Given the description of an element on the screen output the (x, y) to click on. 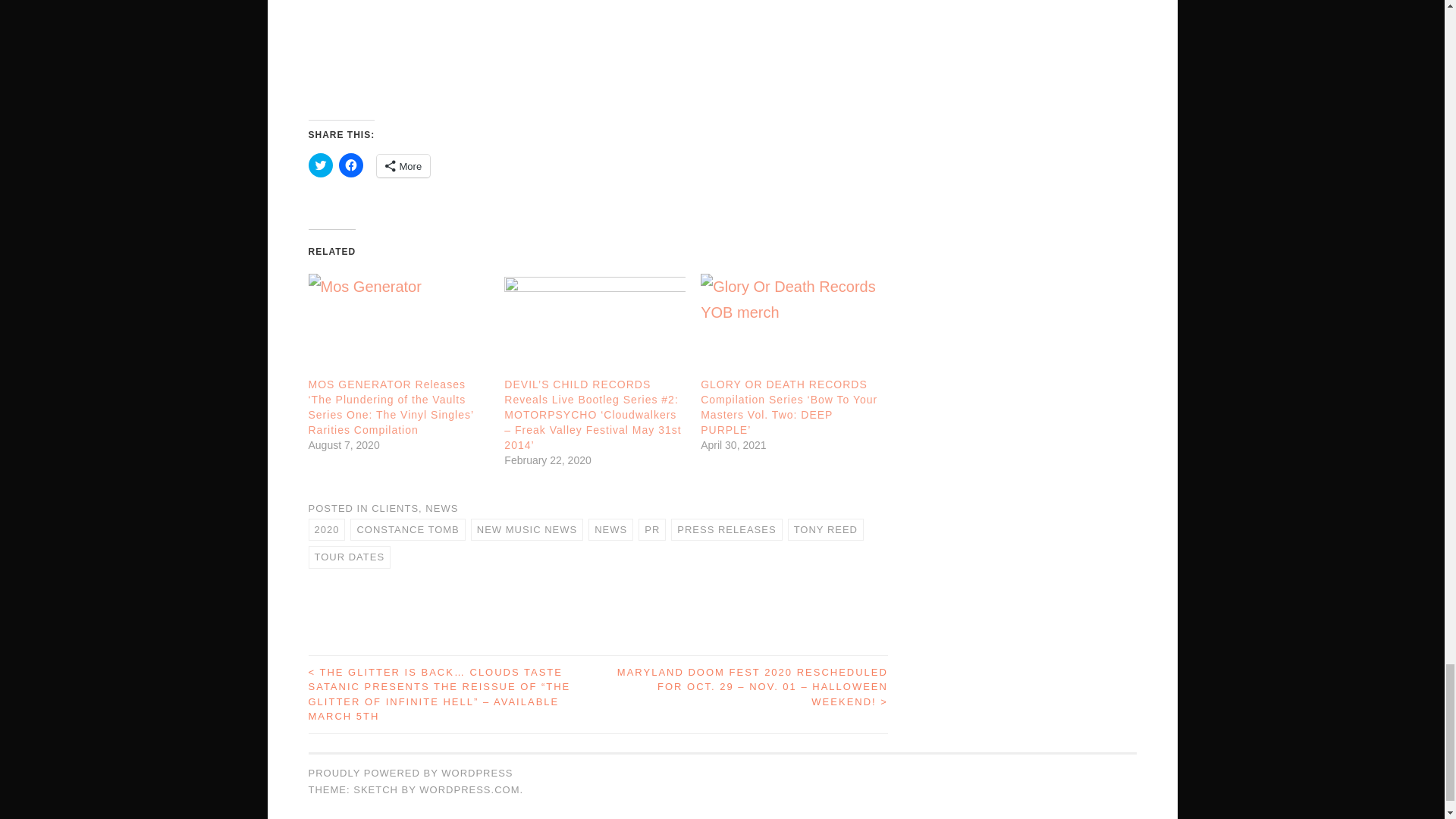
More (402, 165)
Click to share on Twitter (319, 165)
Click to share on Facebook (349, 165)
